Given the description of an element on the screen output the (x, y) to click on. 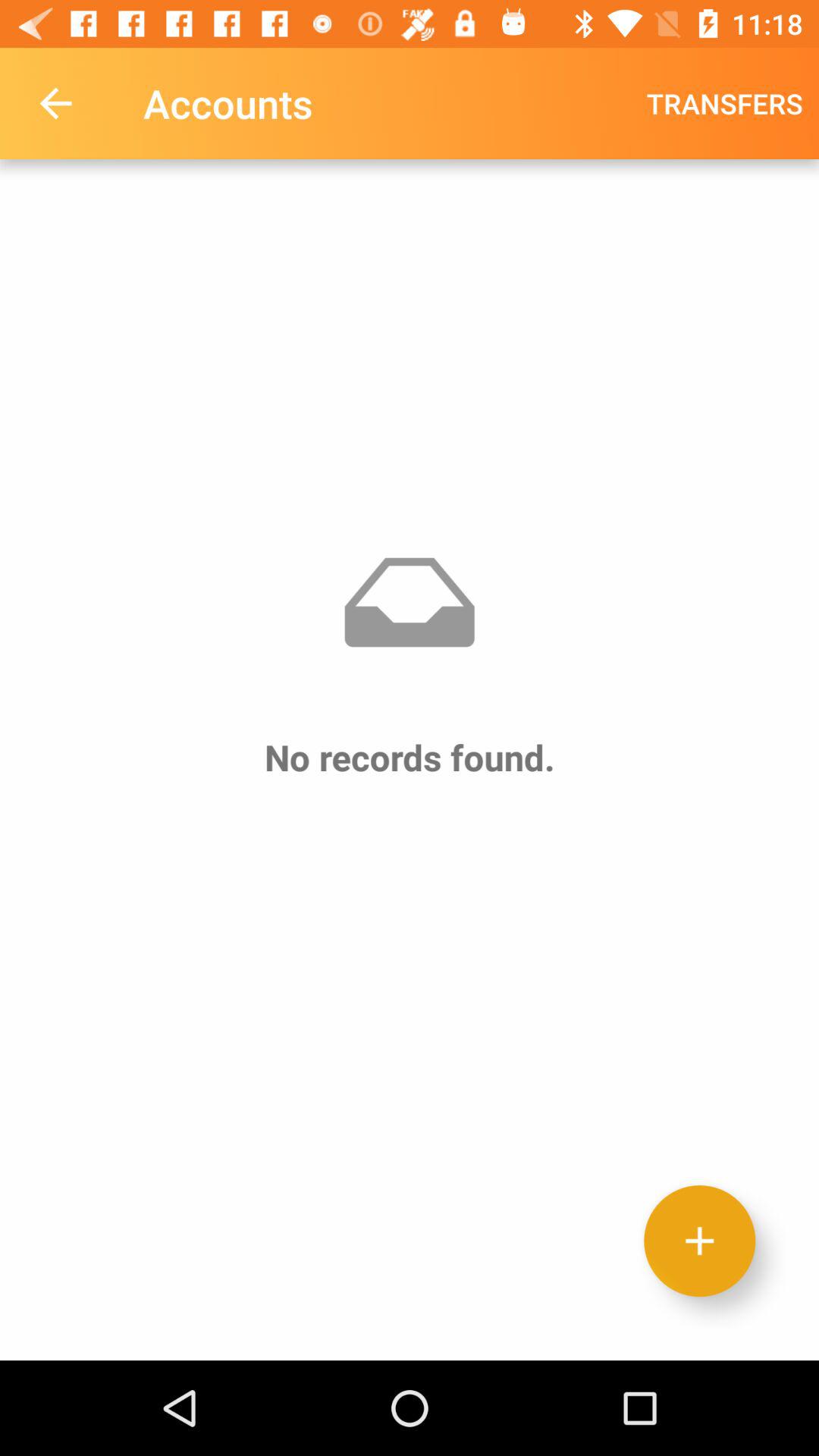
press the icon above no records found. icon (724, 103)
